Given the description of an element on the screen output the (x, y) to click on. 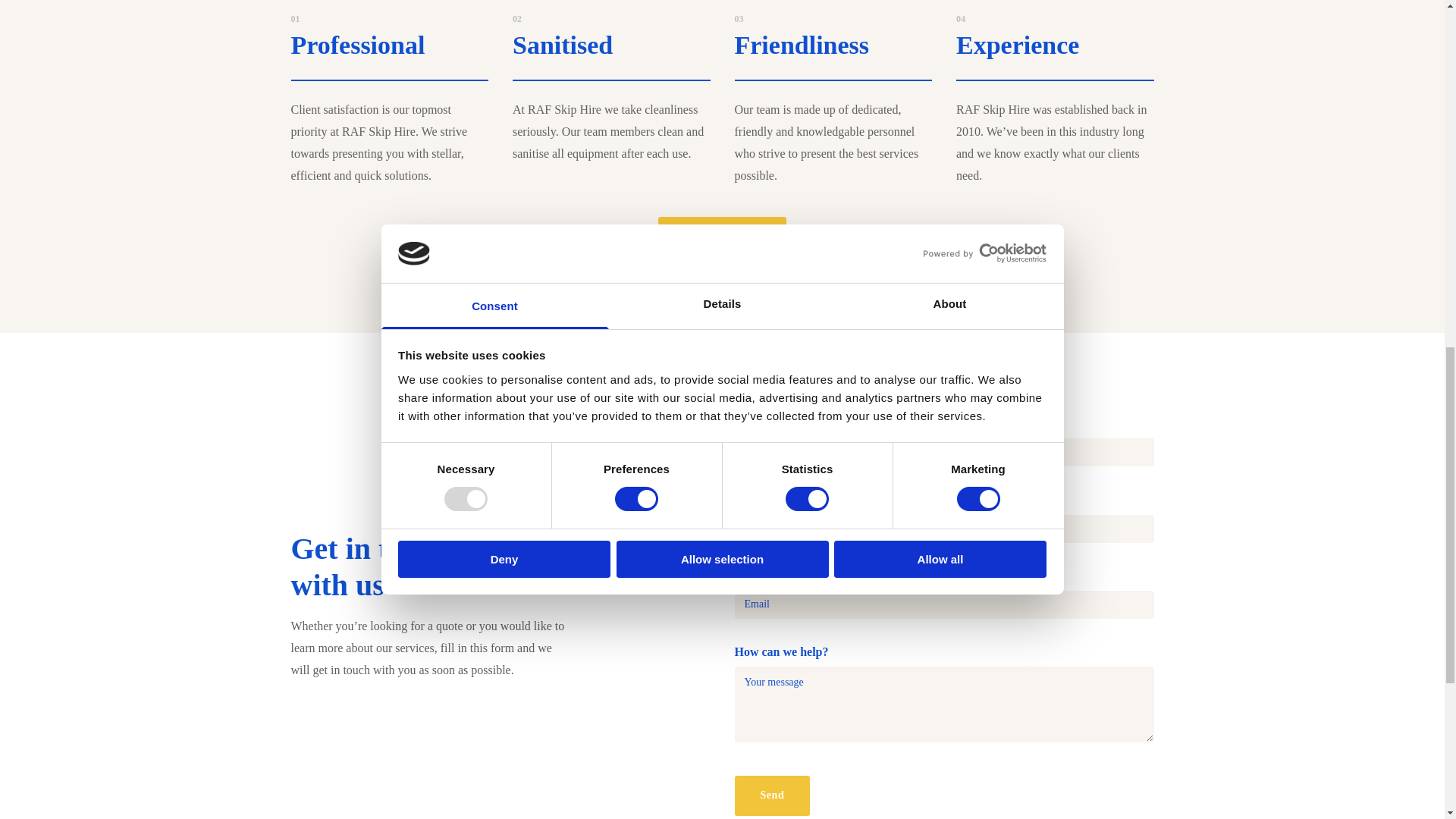
Send (771, 795)
Send (771, 795)
Waste Removal (722, 237)
